Given the description of an element on the screen output the (x, y) to click on. 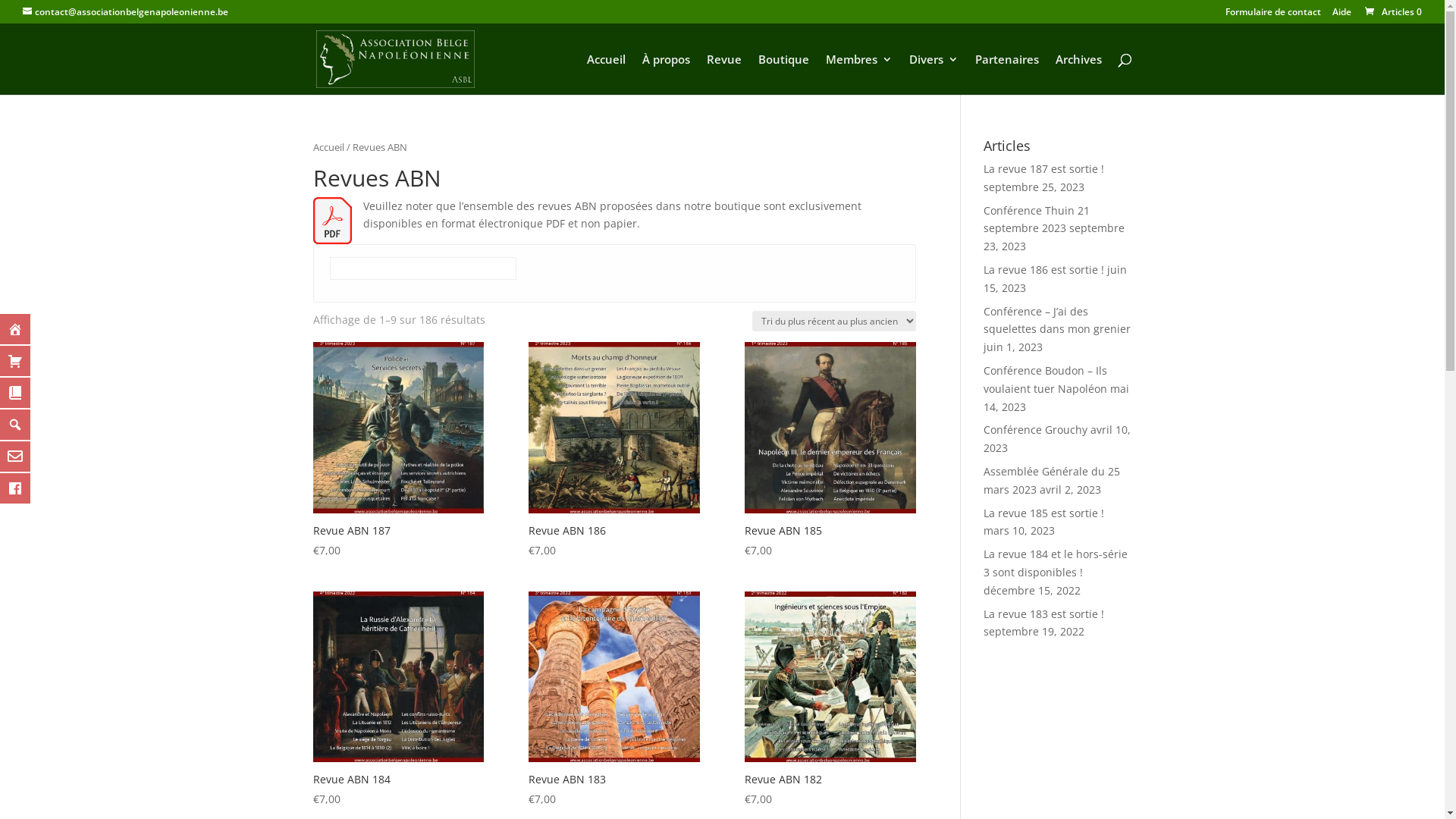
Aide Element type: text (1341, 15)
Partenaires Element type: text (1006, 73)
Formulaire de contact Element type: text (1273, 15)
Boutique Element type: text (783, 73)
Accueil Element type: text (327, 146)
Accueil Element type: text (605, 73)
Revue Element type: text (723, 73)
La revue 187 est sortie ! Element type: text (1043, 168)
Divers Element type: text (932, 73)
La revue 183 est sortie ! Element type: text (1043, 613)
Archives Element type: text (1078, 73)
La revue 185 est sortie ! Element type: text (1043, 512)
La revue 186 est sortie ! Element type: text (1043, 269)
Articles 0 Element type: text (1391, 11)
contact@associationbelgenapoleonienne.be Element type: text (125, 11)
Membres Element type: text (858, 73)
